Given the description of an element on the screen output the (x, y) to click on. 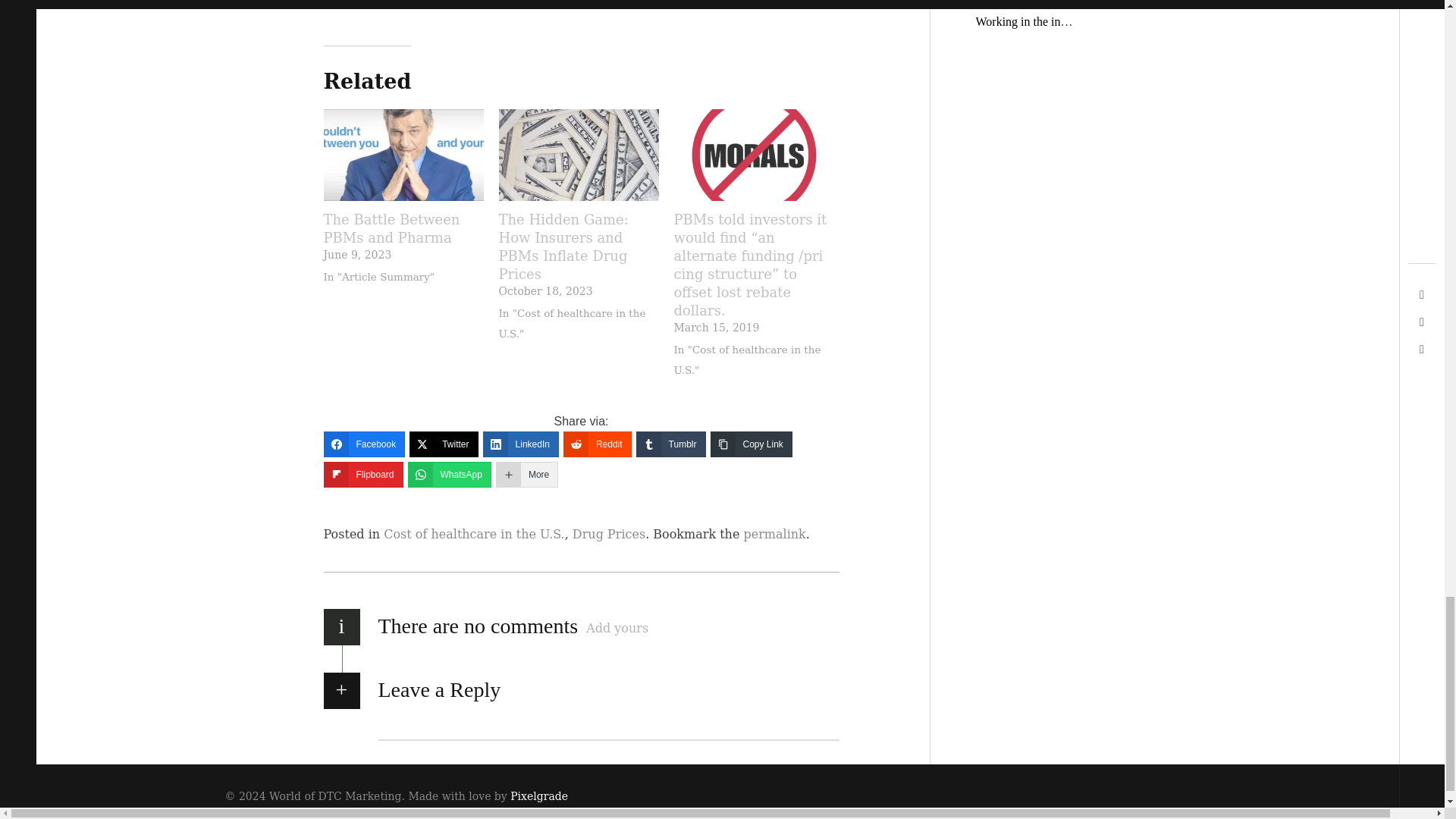
Facebook (363, 444)
The Hidden Game: How Insurers and PBMs Inflate Drug Prices (579, 154)
Reddit (597, 444)
Flipboard (363, 474)
Tumblr (671, 444)
The Hidden Game: How Insurers and PBMs Inflate Drug Prices (579, 246)
WhatsApp (449, 474)
The Battle Between PBMs and Pharma (403, 228)
The Hidden Game: How Insurers and PBMs Inflate Drug Prices (579, 246)
Drug Prices (608, 534)
Cost of healthcare in the U.S. (474, 534)
More (526, 474)
The Battle Between PBMs and Pharma (403, 154)
LinkedIn (521, 444)
